Given the description of an element on the screen output the (x, y) to click on. 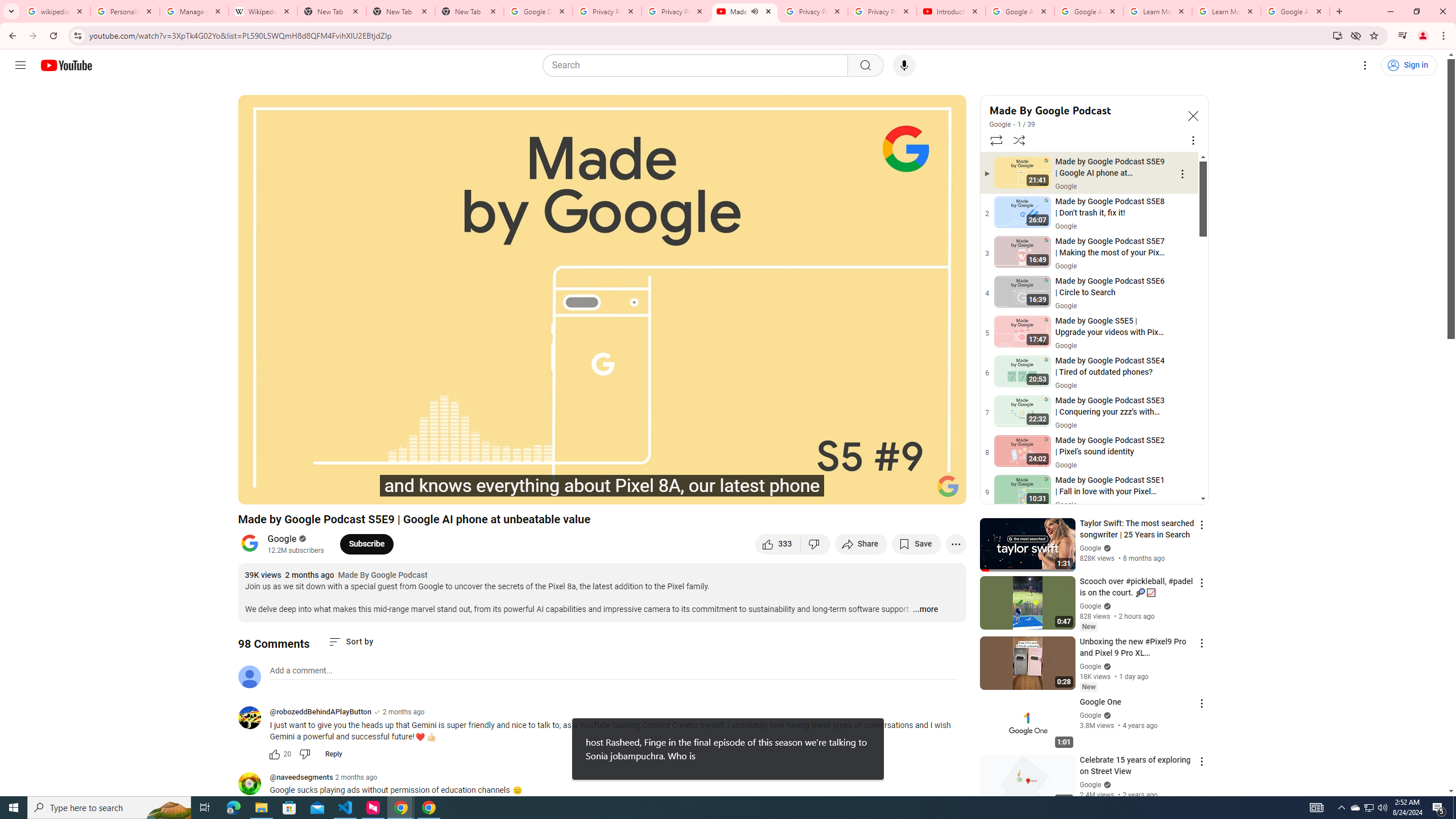
...more (924, 609)
Sort comments (350, 641)
Miniplayer (i) (890, 490)
Google Account Help (1019, 11)
Subtitles/closed captions unavailable (836, 490)
Save to playlist (915, 543)
@naveedsegments (253, 784)
New Tab (400, 11)
Dislike this comment (304, 754)
